Given the description of an element on the screen output the (x, y) to click on. 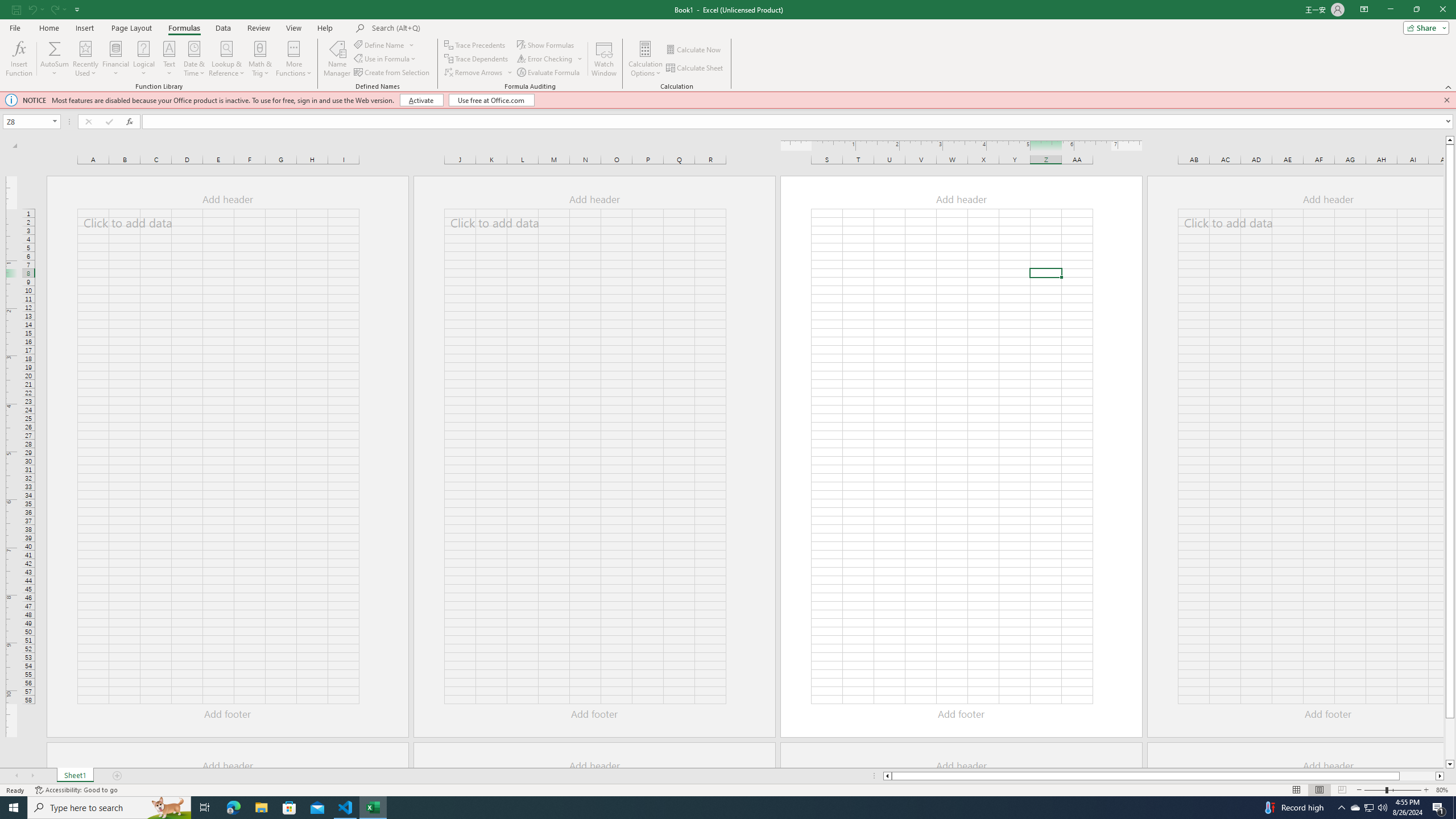
Logical (143, 58)
Lookup & Reference (227, 58)
Calculation Options (645, 58)
Recently Used (85, 58)
